Given the description of an element on the screen output the (x, y) to click on. 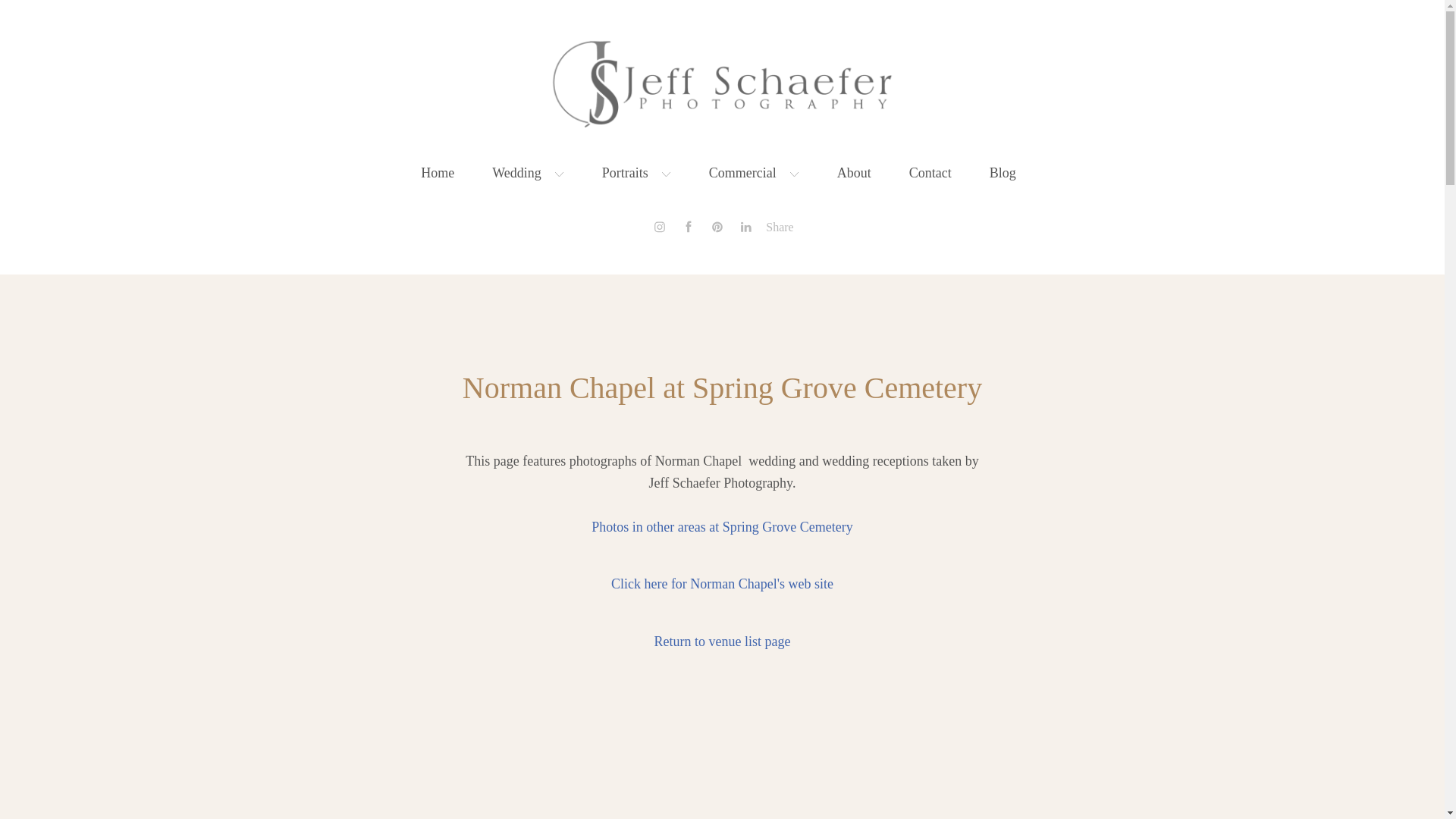
Portraits (636, 172)
Blog (1003, 172)
About (853, 172)
Contact (930, 172)
Wedding (528, 172)
Commercial (754, 172)
Home (437, 172)
